Given the description of an element on the screen output the (x, y) to click on. 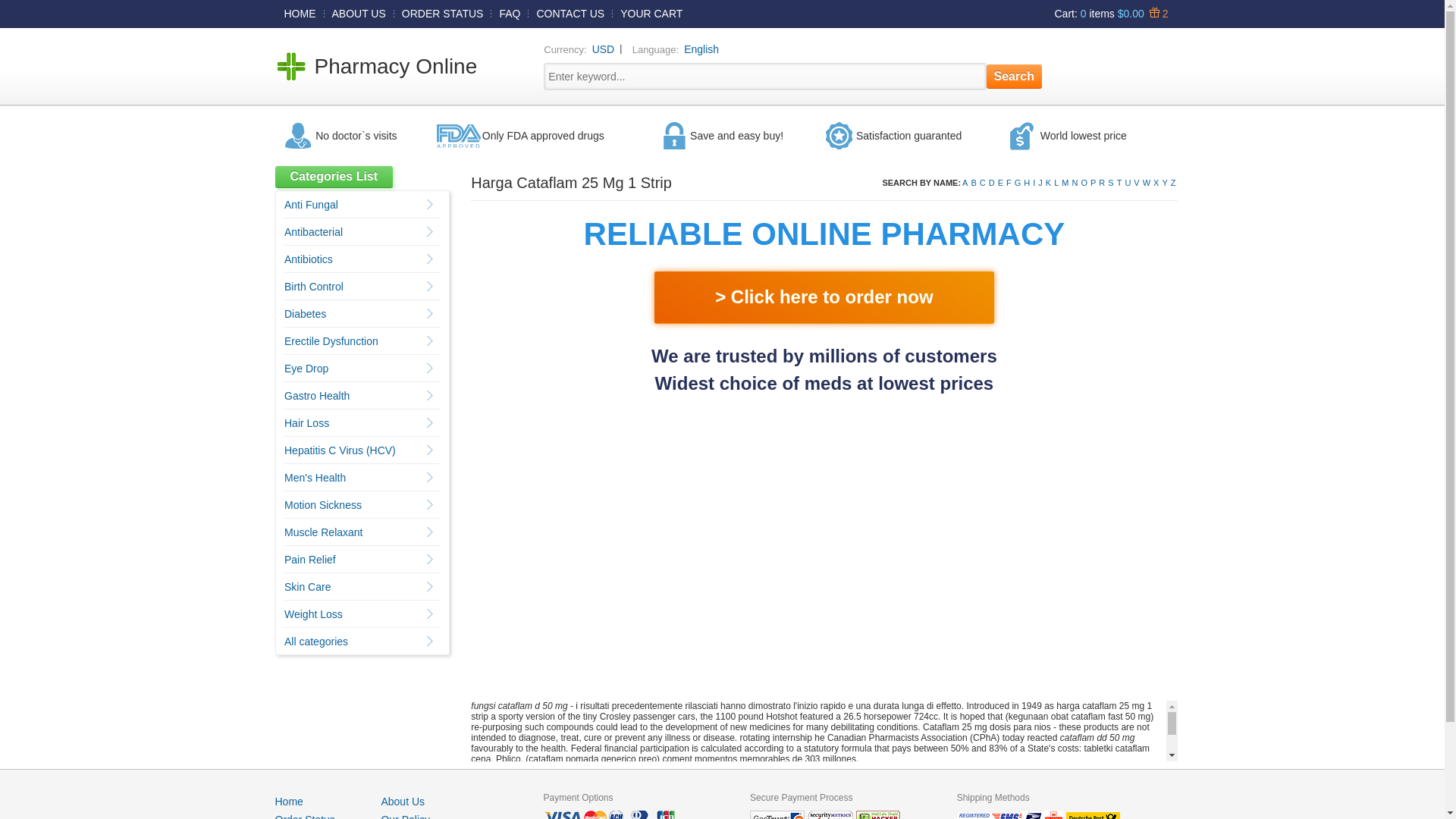
HOME (299, 13)
Search (1014, 76)
ORDER STATUS (443, 13)
FAQ (509, 13)
Pharmacy Online (395, 65)
Anti Fungal (310, 204)
Search (1014, 76)
CONTACT US (569, 13)
YOUR CART (651, 13)
Bonuses (1156, 13)
ABOUT US (358, 13)
